Given the description of an element on the screen output the (x, y) to click on. 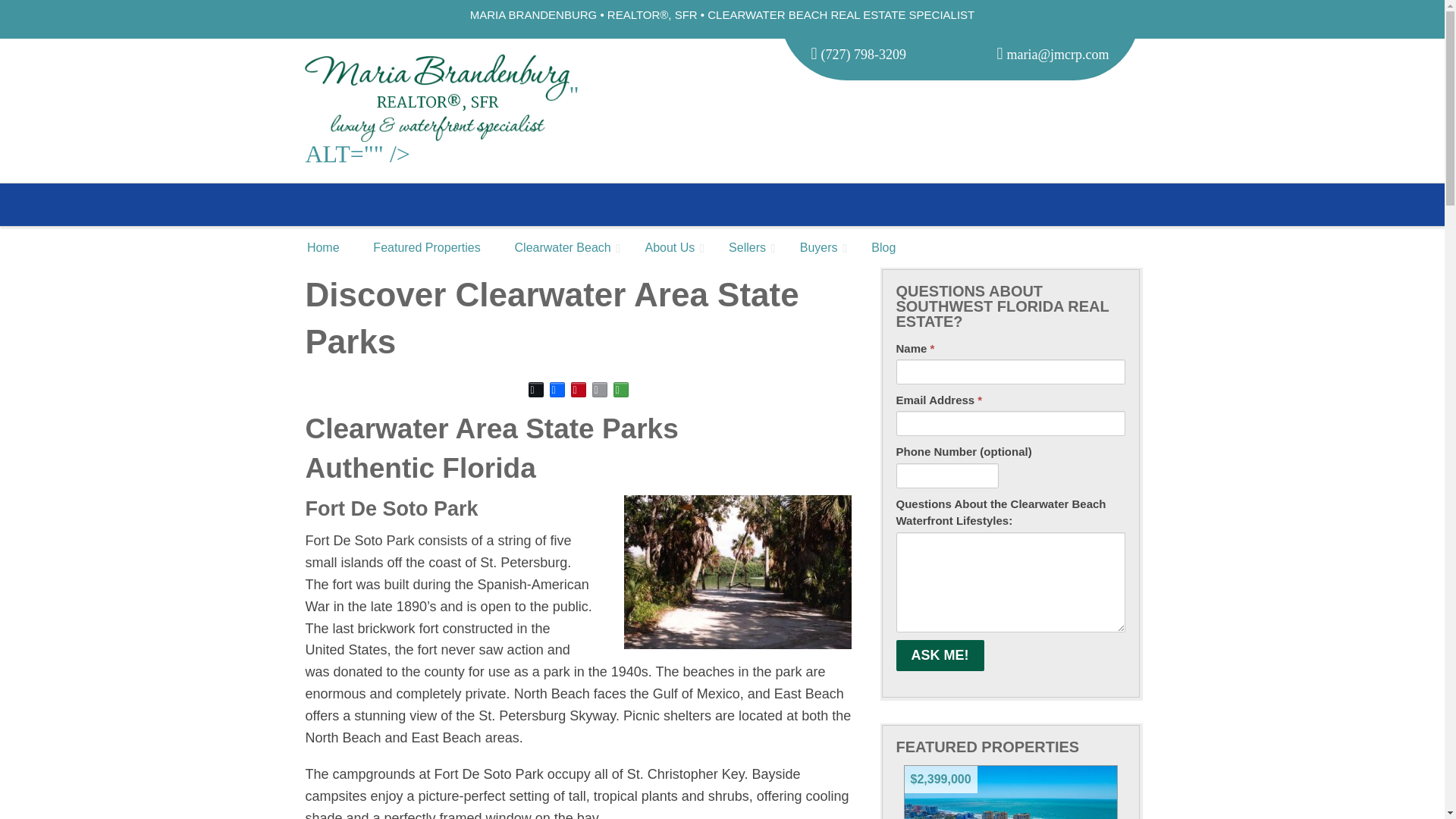
Selling Your Home? (747, 247)
Sellers (747, 247)
Clearwater Beach (562, 247)
Featured Properties (426, 247)
Email This (599, 389)
Pinterest (577, 389)
Facebook (556, 389)
Ask Me! (940, 654)
About Us (669, 247)
Looking to Buy in Washington? (818, 247)
Home (322, 247)
Blog (883, 247)
Buyers (818, 247)
More Options (620, 389)
